Given the description of an element on the screen output the (x, y) to click on. 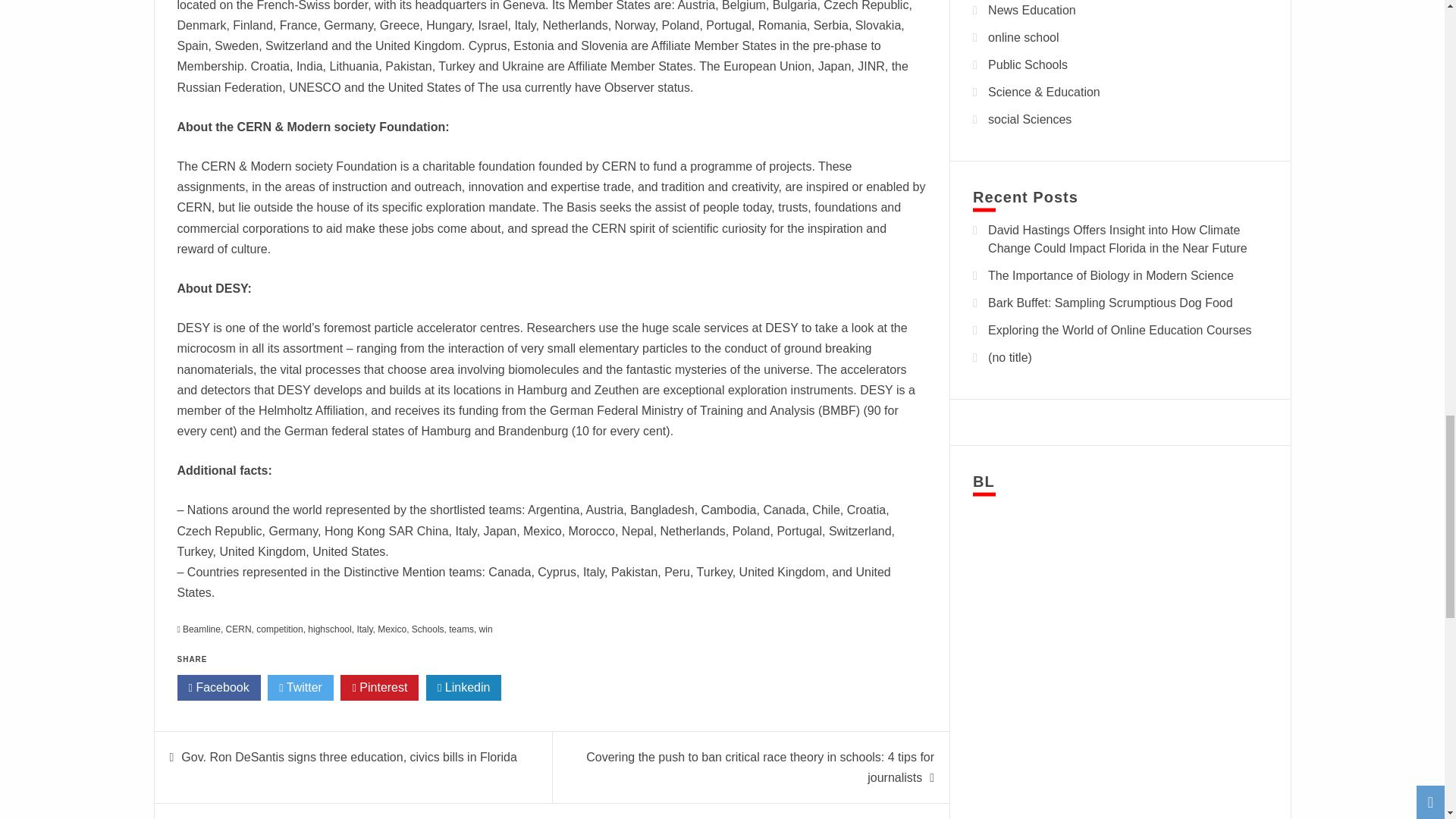
competition (279, 629)
Mexico (391, 629)
Schools (428, 629)
highschool (328, 629)
Beamline (202, 629)
win (486, 629)
Pinterest (379, 687)
Facebook (218, 687)
CERN (238, 629)
Twitter (300, 687)
